Given the description of an element on the screen output the (x, y) to click on. 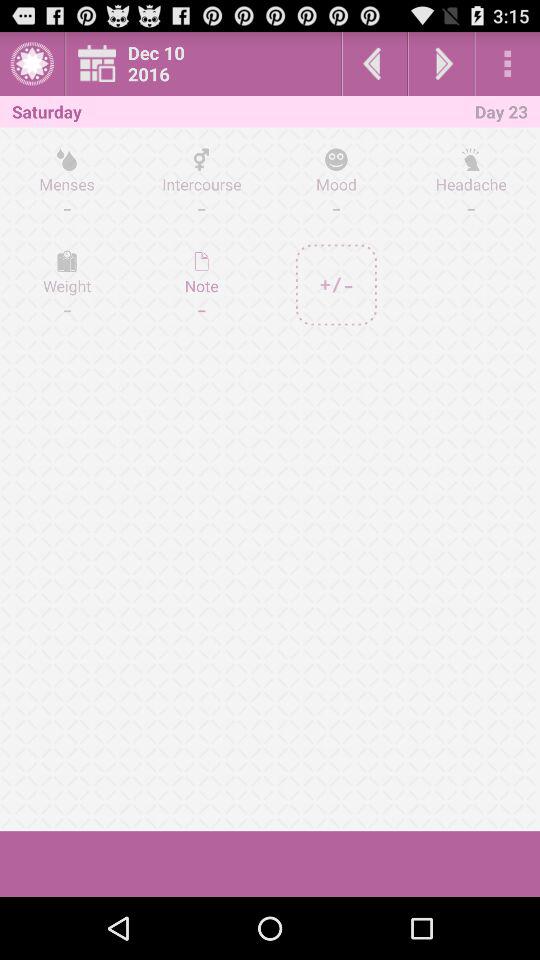
go back (374, 63)
